Given the description of an element on the screen output the (x, y) to click on. 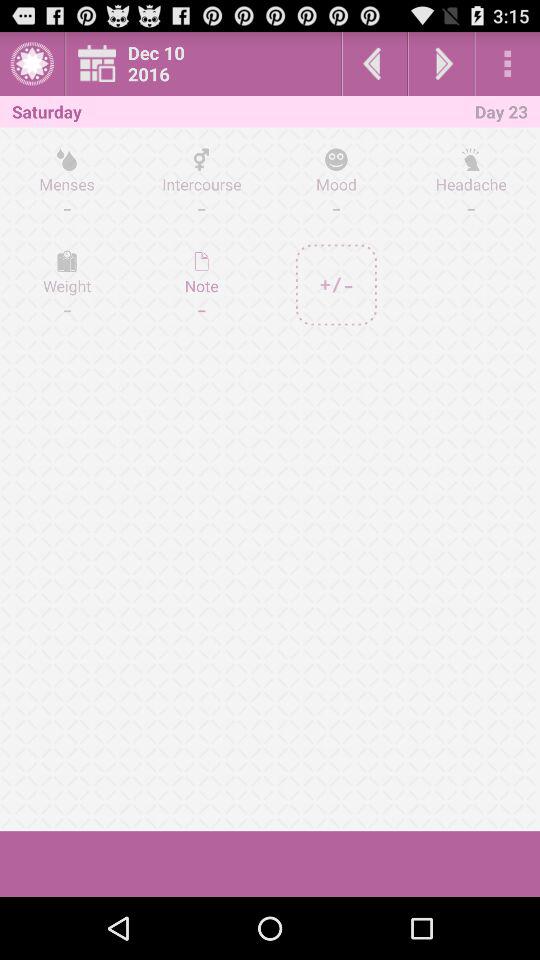
go back (374, 63)
